Given the description of an element on the screen output the (x, y) to click on. 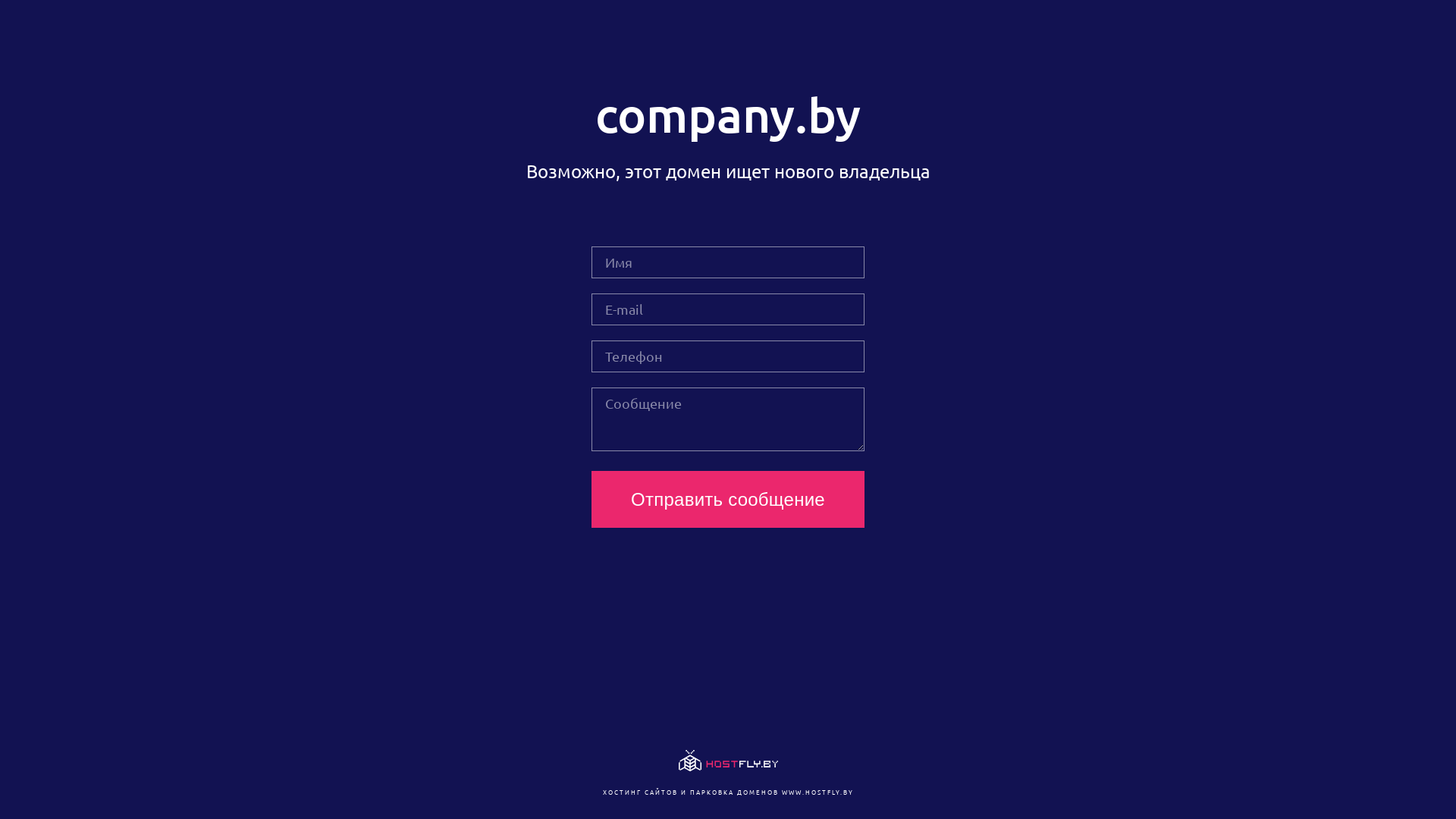
WWW.HOSTFLY.BY Element type: text (817, 791)
